Given the description of an element on the screen output the (x, y) to click on. 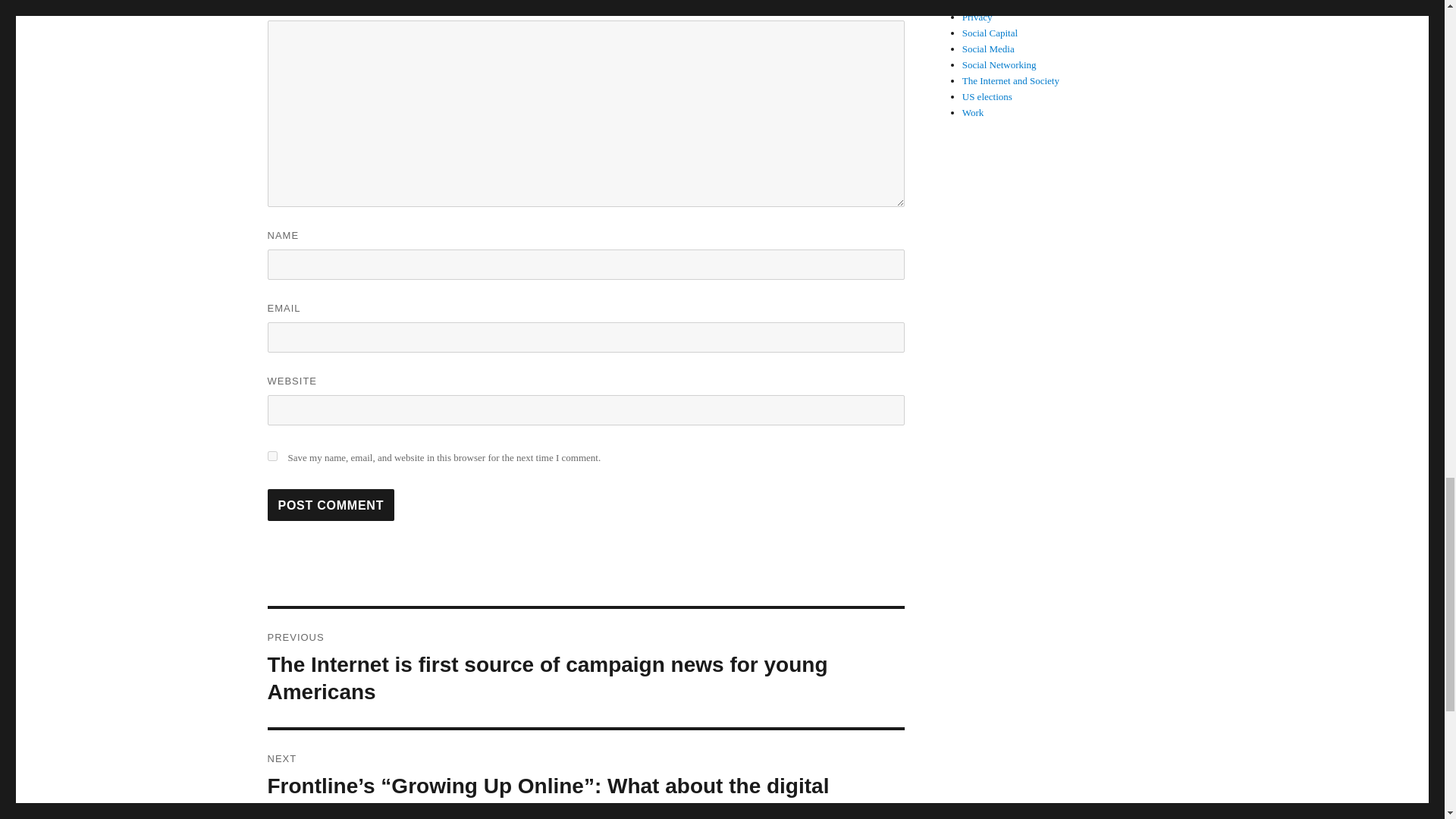
yes (271, 456)
Post Comment (330, 504)
Post Comment (330, 504)
